Given the description of an element on the screen output the (x, y) to click on. 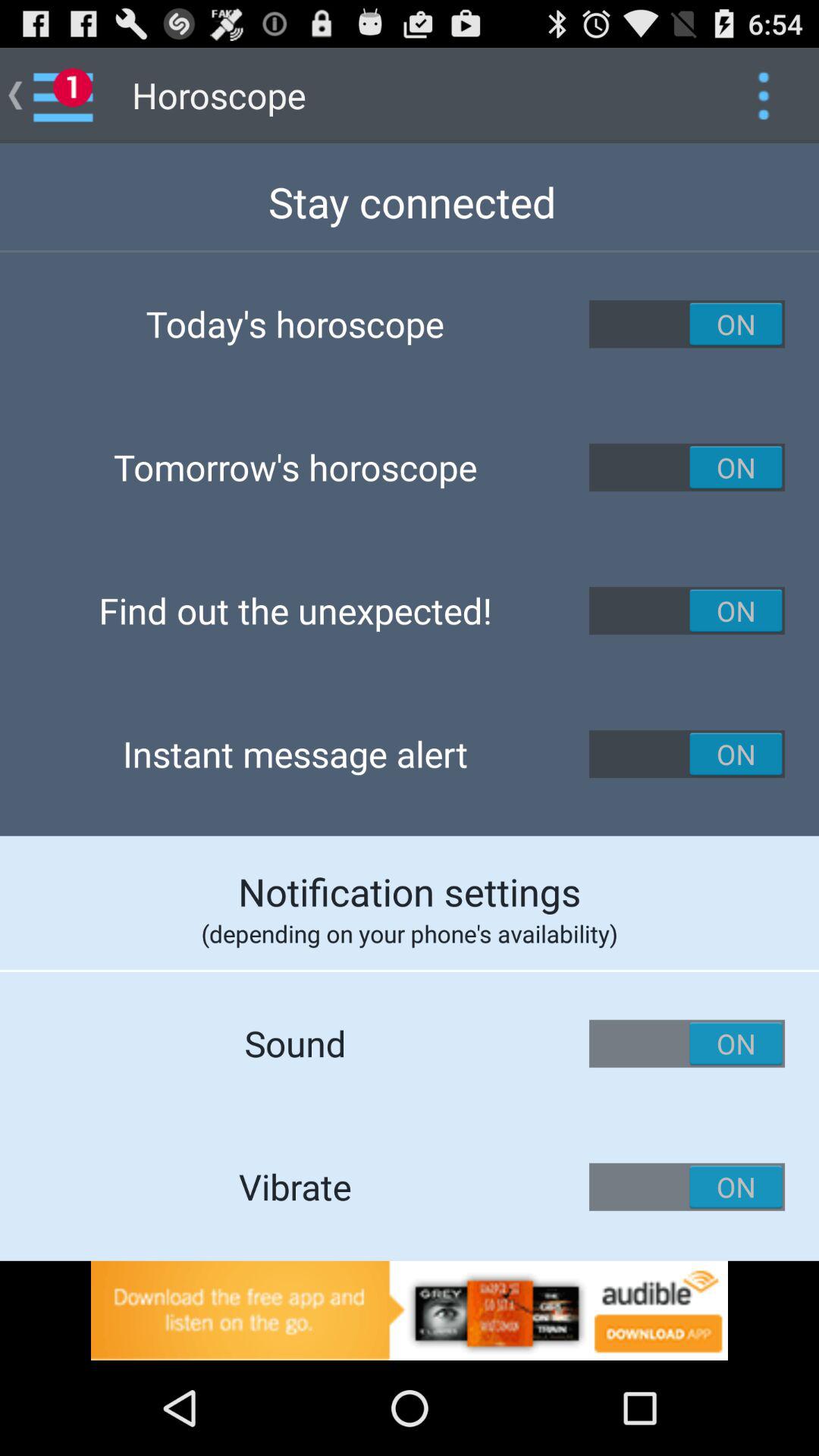
toggle instant message alert (686, 754)
